Given the description of an element on the screen output the (x, y) to click on. 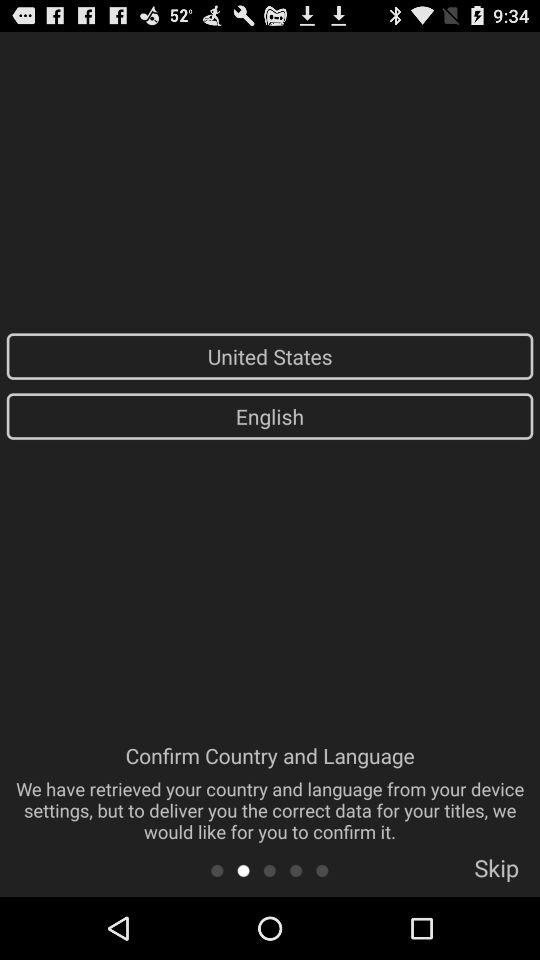
click app below confirm country and item (269, 870)
